Given the description of an element on the screen output the (x, y) to click on. 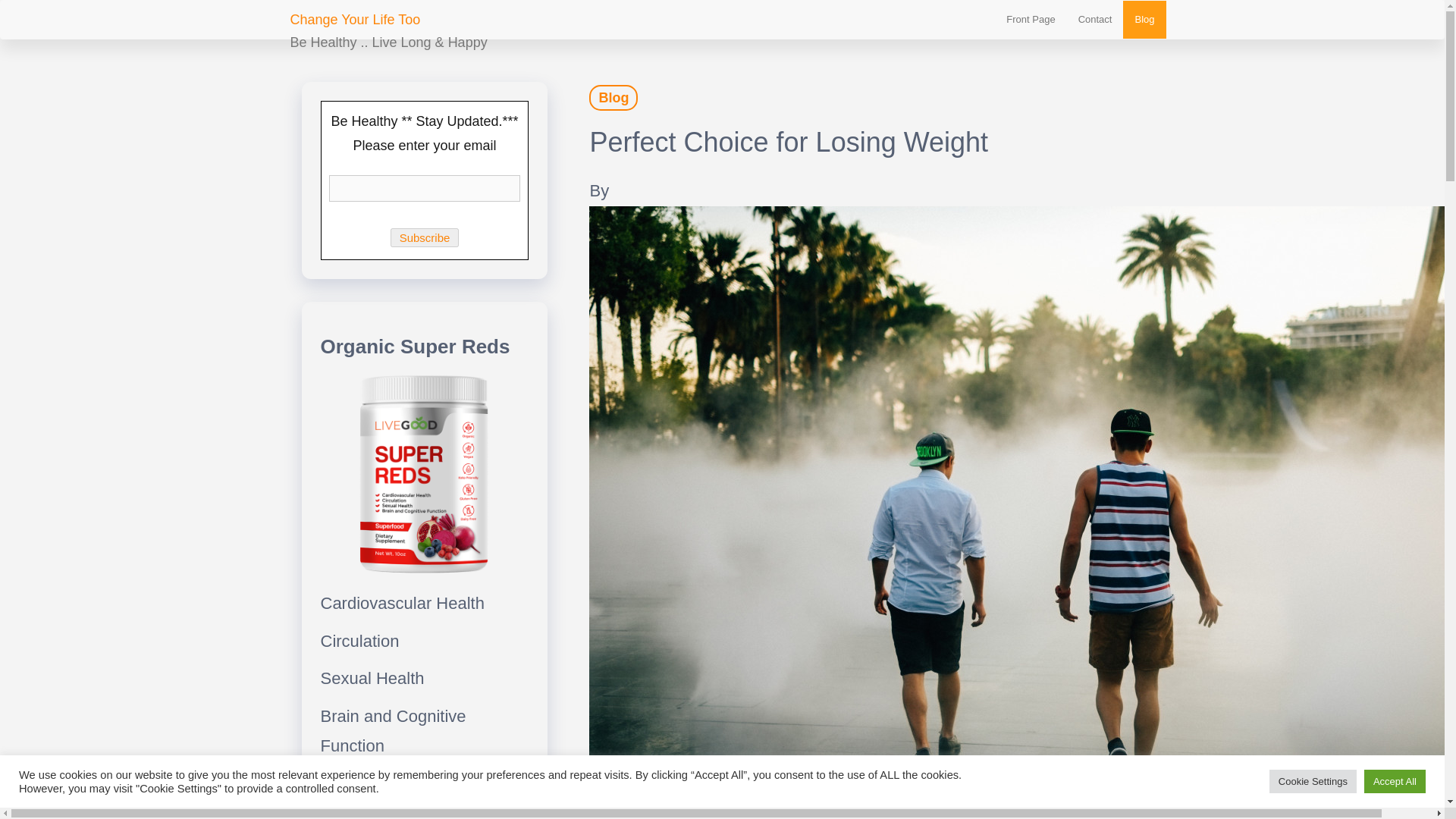
Contact (1095, 19)
Subscribe (425, 237)
Front Page (1029, 19)
Blog (1144, 19)
Blog (1144, 19)
Change Your Life Too (354, 19)
Blog (613, 97)
Front Page (1029, 19)
Contact (1095, 19)
Subscribe (425, 237)
